Given the description of an element on the screen output the (x, y) to click on. 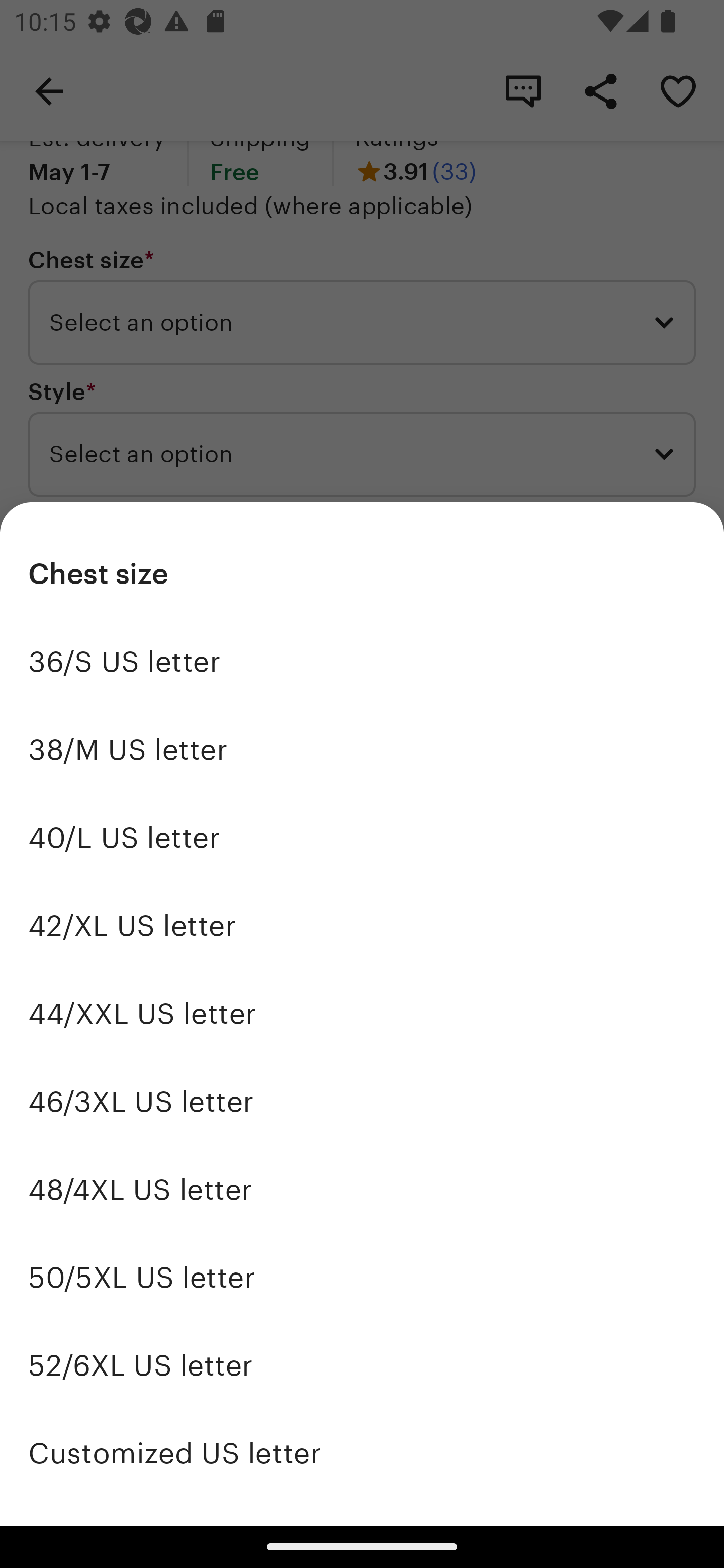
36/S US letter (362, 661)
38/M US letter (362, 749)
40/L US letter (362, 837)
42/XL US letter (362, 925)
44/XXL US letter (362, 1014)
46/3XL US letter (362, 1102)
48/4XL US letter (362, 1190)
50/5XL US letter (362, 1277)
52/6XL US letter (362, 1365)
Customized US letter (362, 1453)
